Given the description of an element on the screen output the (x, y) to click on. 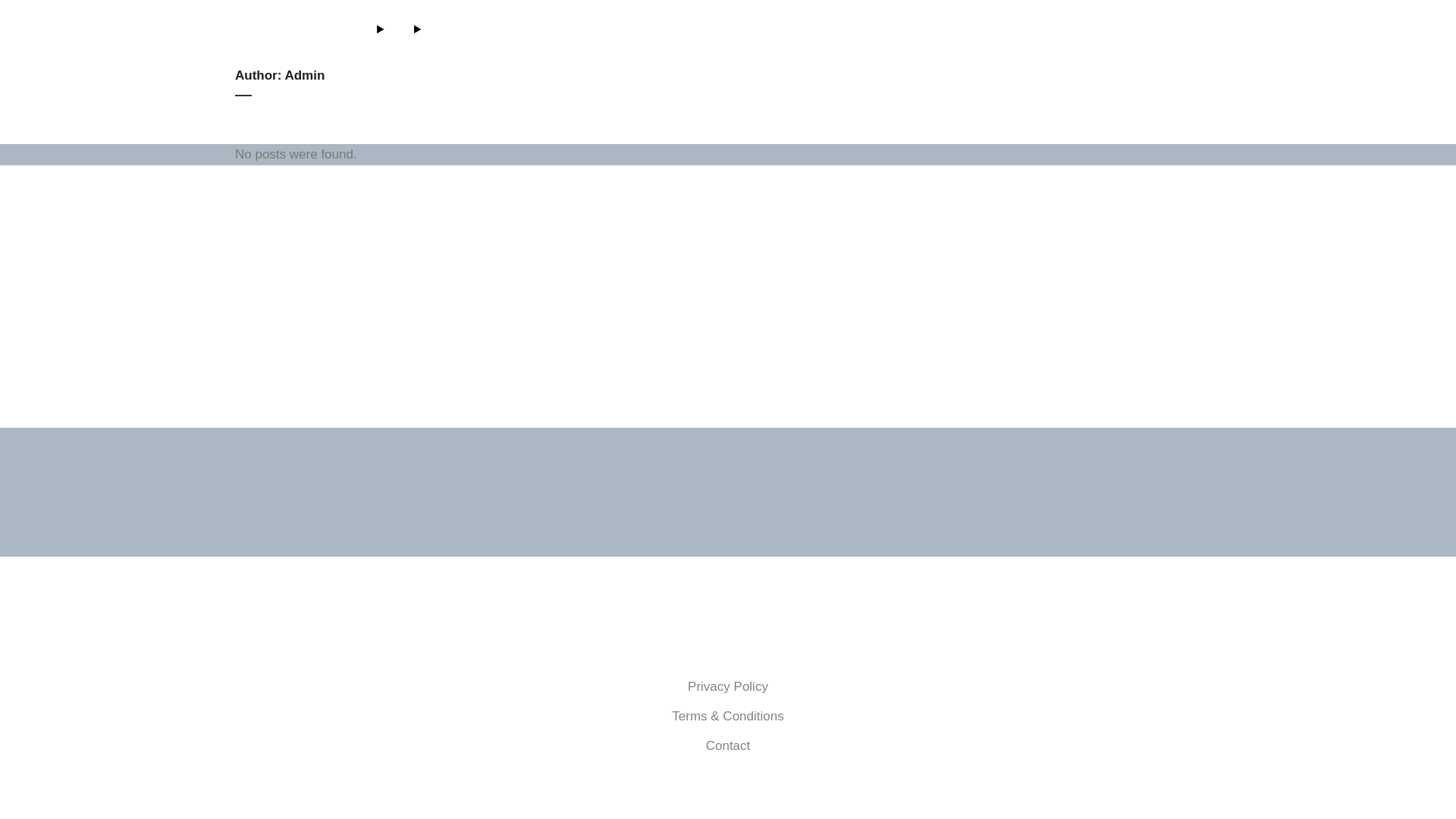
Contact Element type: text (727, 745)
How it Works Element type: text (997, 34)
Home Element type: text (847, 34)
Register Element type: text (1090, 34)
Terms & Conditions Element type: text (727, 716)
Privacy Policy Element type: text (727, 686)
About Element type: text (912, 34)
Contact Element type: text (1166, 34)
